Given the description of an element on the screen output the (x, y) to click on. 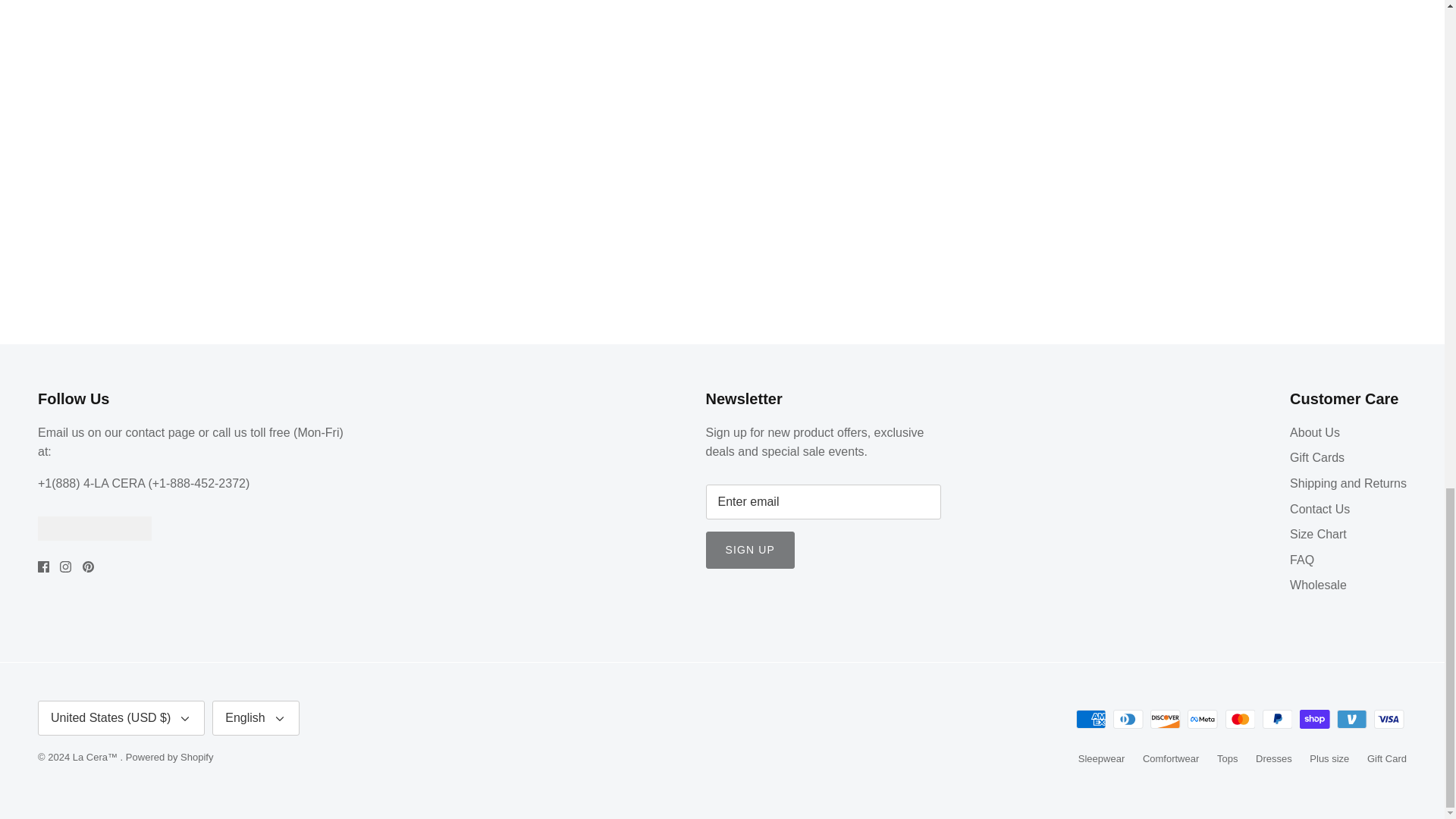
Facebook (43, 566)
Diners Club (1127, 719)
American Express (1090, 719)
Instagram (65, 566)
Discover (1165, 719)
Meta Pay (1202, 719)
Pinterest (88, 566)
